Given the description of an element on the screen output the (x, y) to click on. 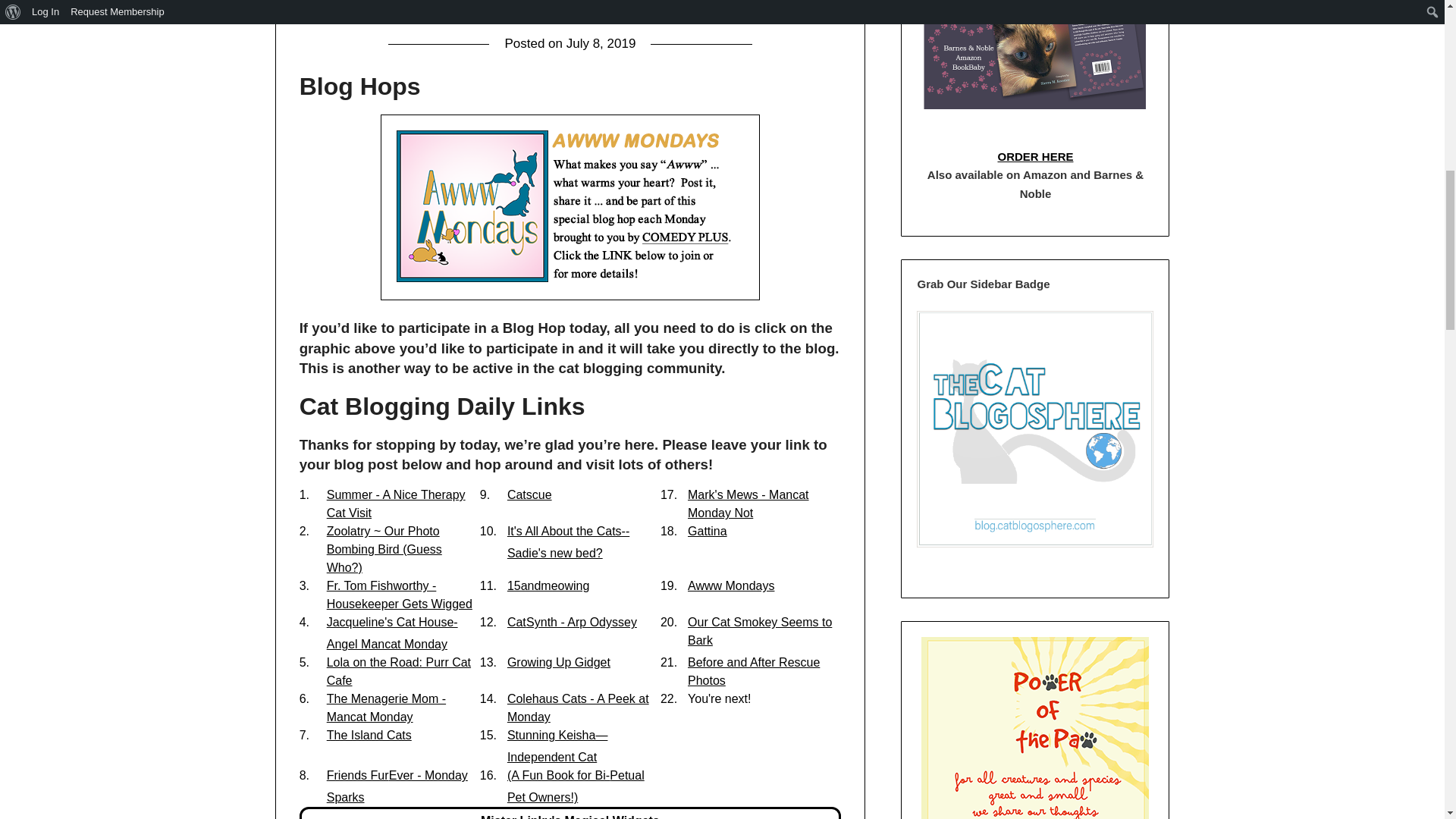
Cat Synth - Arp Odyssey (571, 621)
Awww Mondays (730, 585)
Jacqueline's Cat House- Angel Mancat Monday (392, 632)
Summer - A Nice Therapy Cat Visit (395, 503)
It's All About the Cats-- Sadie's new bed? (567, 541)
15andmeowing (547, 585)
Our Cat Smokey Seems to Bark (759, 631)
Before and After Rescue Photos (753, 671)
Mark's Mews - Mancat Monday Not (748, 503)
The Menagerie Mom - Mancat Monday (385, 707)
Lola on the Road: Purr Cat Cafe (398, 671)
Growing Up Gidget (558, 662)
Fr. Tom Fishworthy - Housekeeper Gets Wigged (398, 594)
Catscue (528, 494)
Gattina (706, 530)
